Given the description of an element on the screen output the (x, y) to click on. 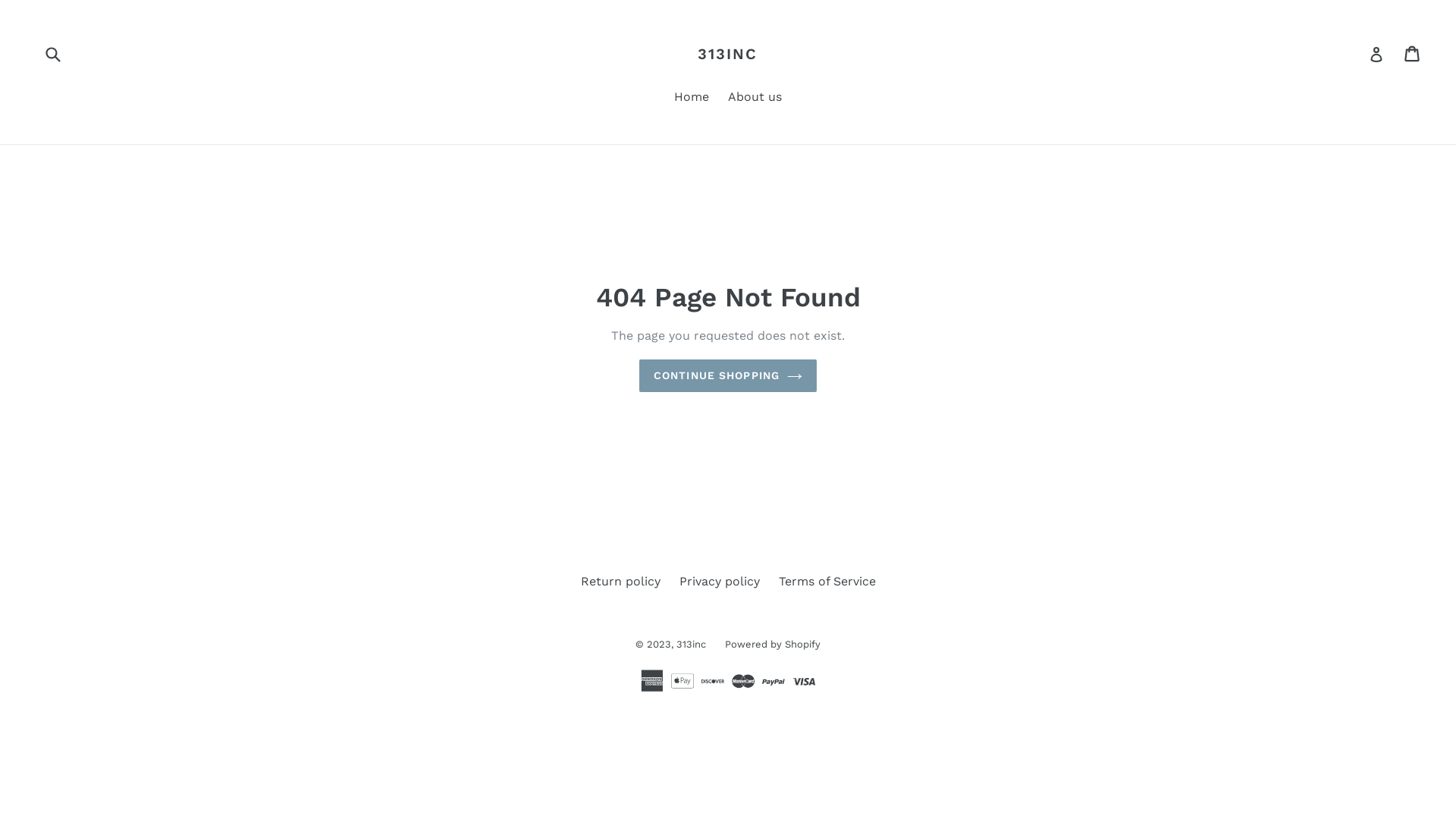
Terms of Service Element type: text (826, 581)
Powered by Shopify Element type: text (772, 643)
313INC Element type: text (727, 53)
Log in Element type: text (1375, 53)
Submit Element type: text (51, 53)
Cart
Cart Element type: text (1412, 53)
Home Element type: text (691, 97)
313inc Element type: text (691, 643)
About us Element type: text (754, 97)
CONTINUE SHOPPING Element type: text (727, 375)
Return policy Element type: text (620, 581)
Privacy policy Element type: text (719, 581)
